Given the description of an element on the screen output the (x, y) to click on. 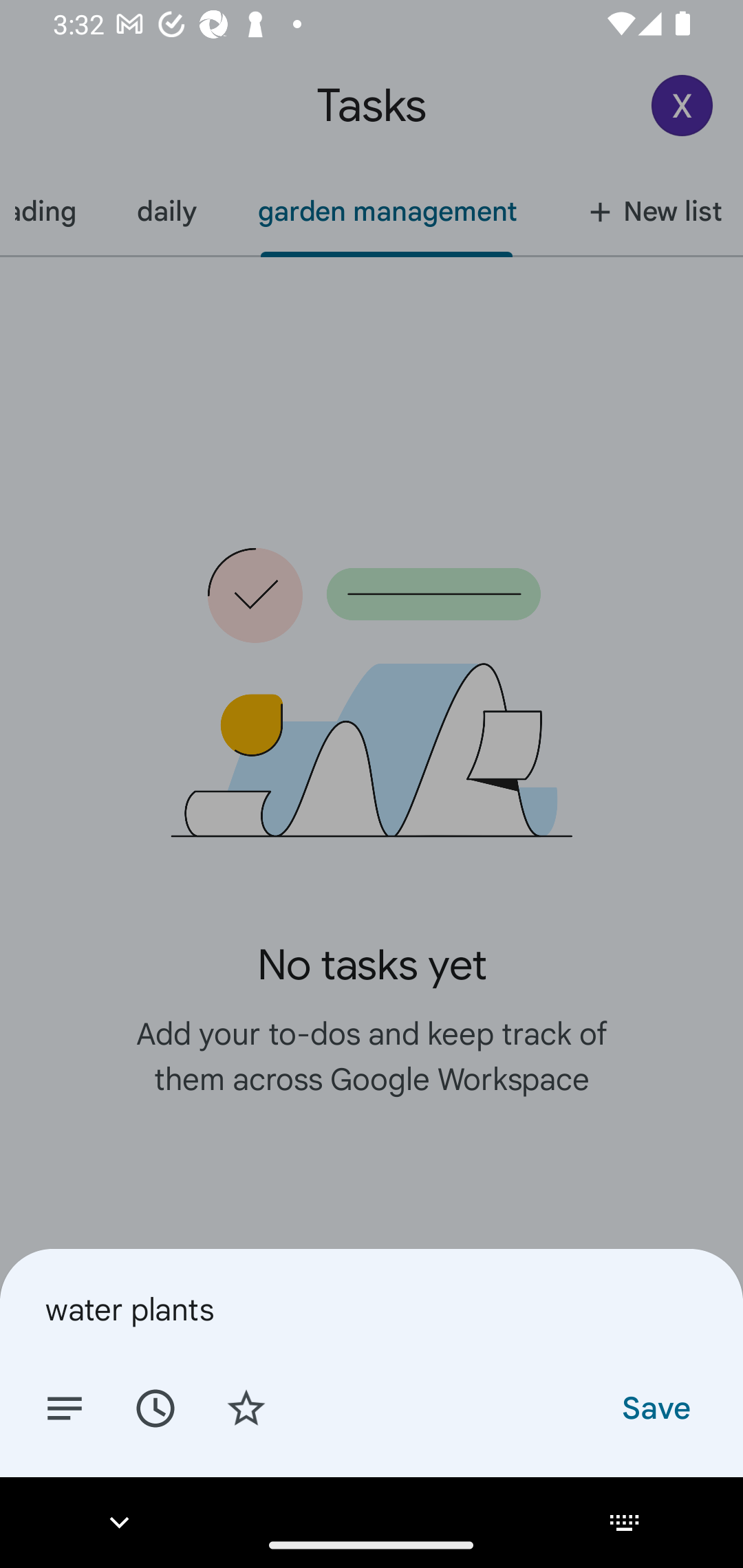
water plants (371, 1308)
Save (655, 1407)
Add details (64, 1407)
Set date/time (154, 1407)
Add star (245, 1407)
